Given the description of an element on the screen output the (x, y) to click on. 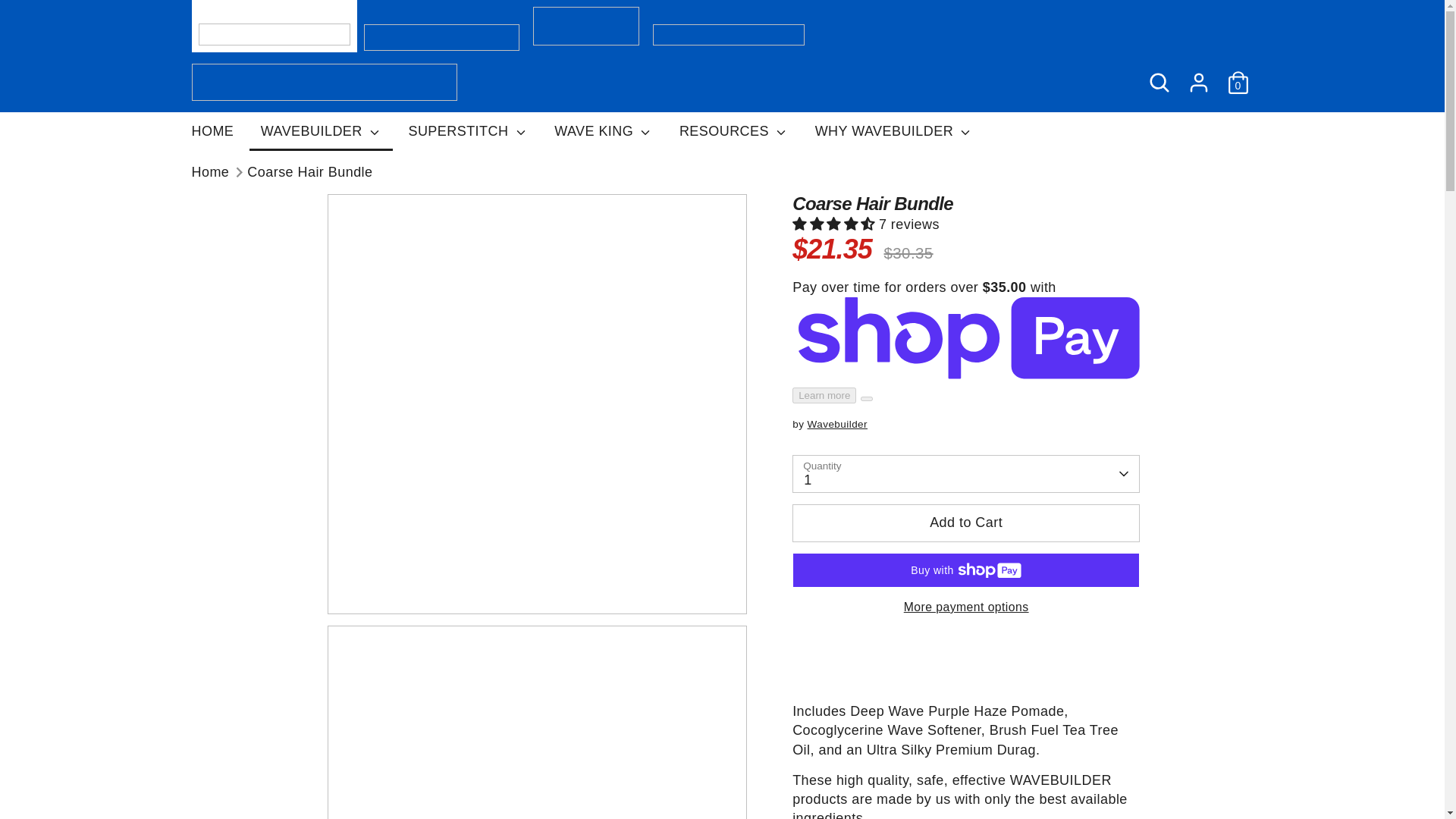
Search (1157, 82)
American Express (963, 770)
0 (1237, 82)
Amazon (932, 770)
